Given the description of an element on the screen output the (x, y) to click on. 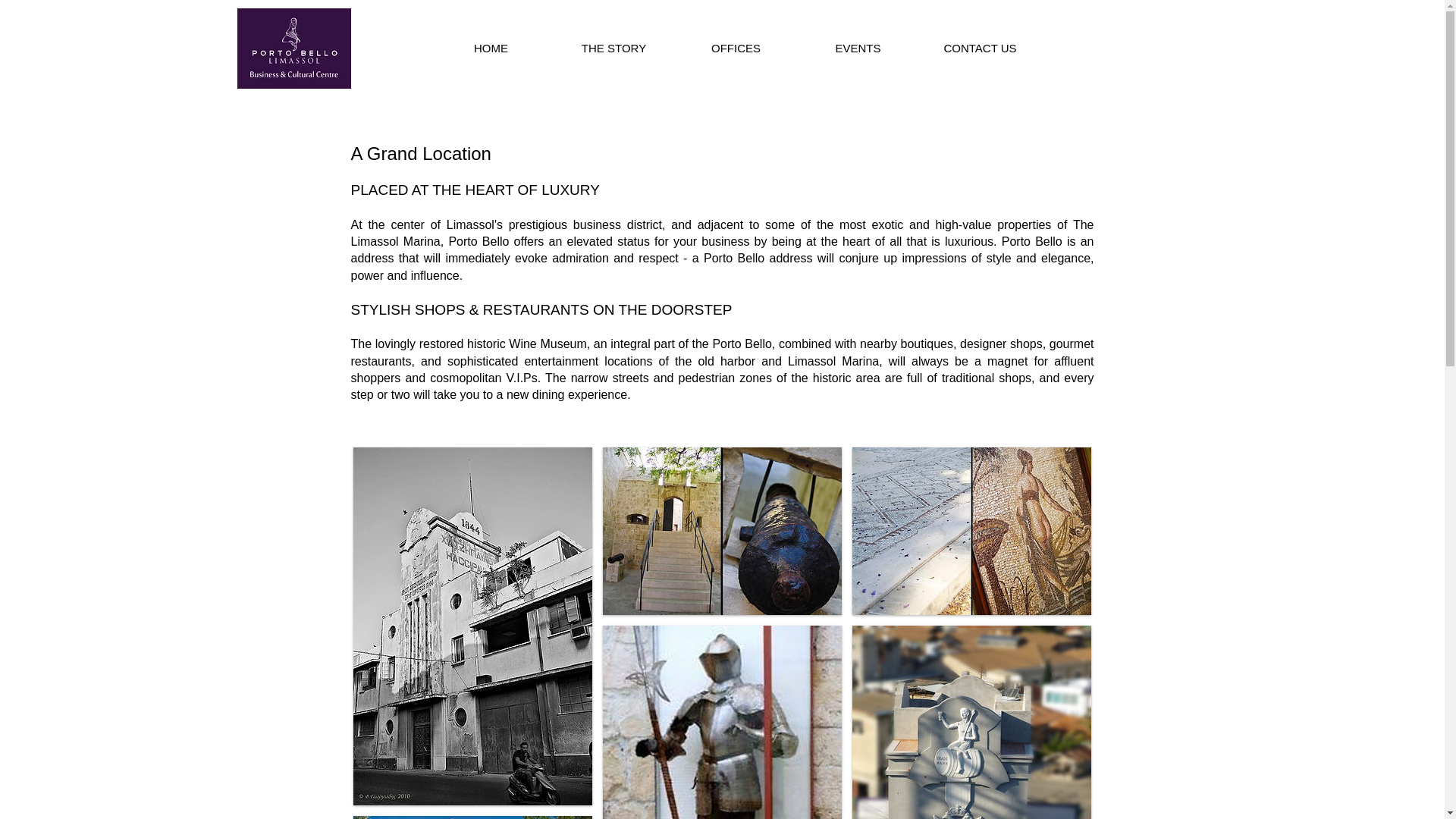
HOME (490, 47)
THE STORY (612, 47)
EVENTS (857, 47)
OFFICES (735, 47)
2cropped.jpg (292, 48)
CONTACT US (979, 47)
